Given the description of an element on the screen output the (x, y) to click on. 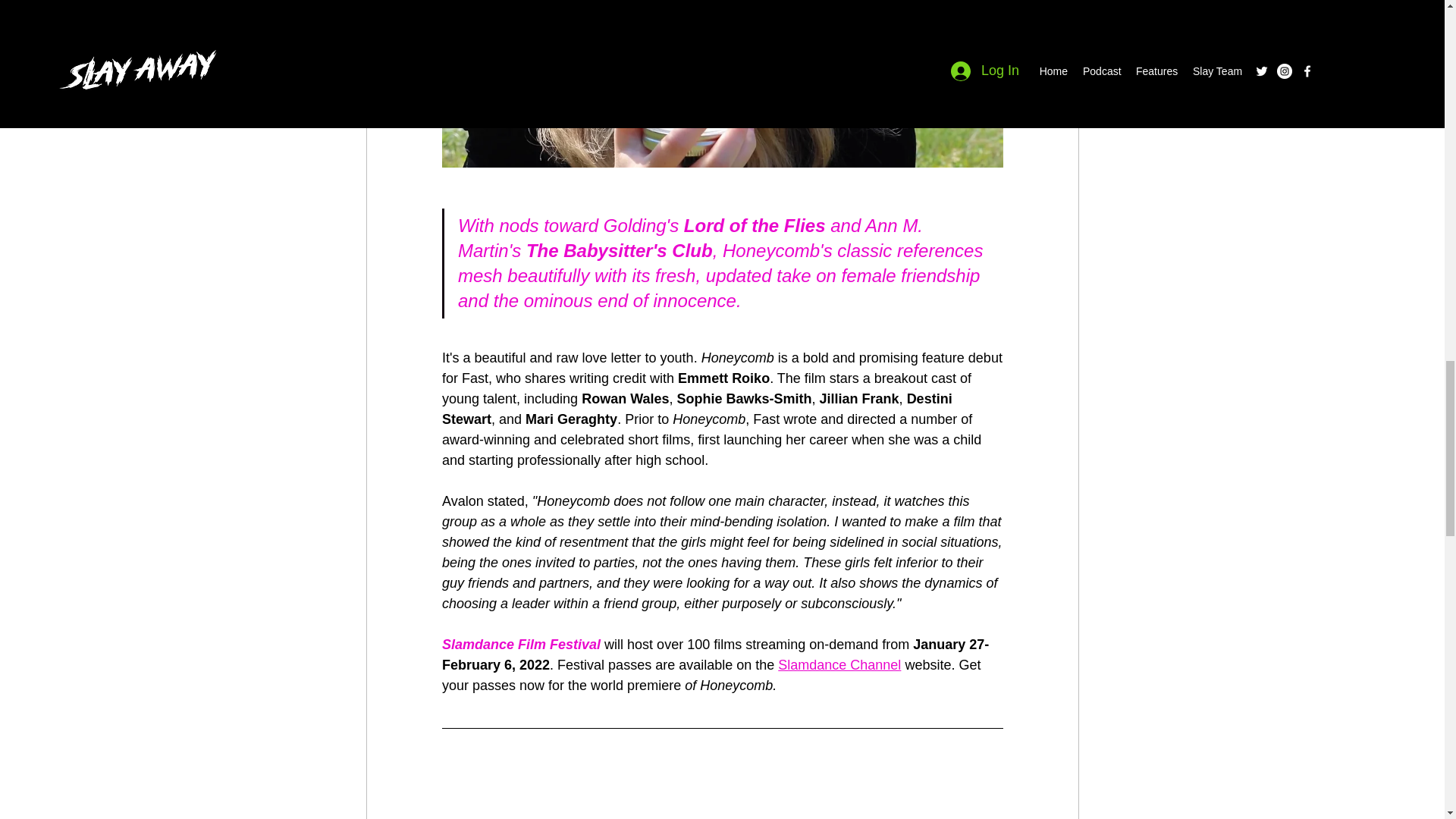
Slamdance Film Festival (520, 644)
Slamdance Channel (839, 664)
ricos-video (722, 790)
